Given the description of an element on the screen output the (x, y) to click on. 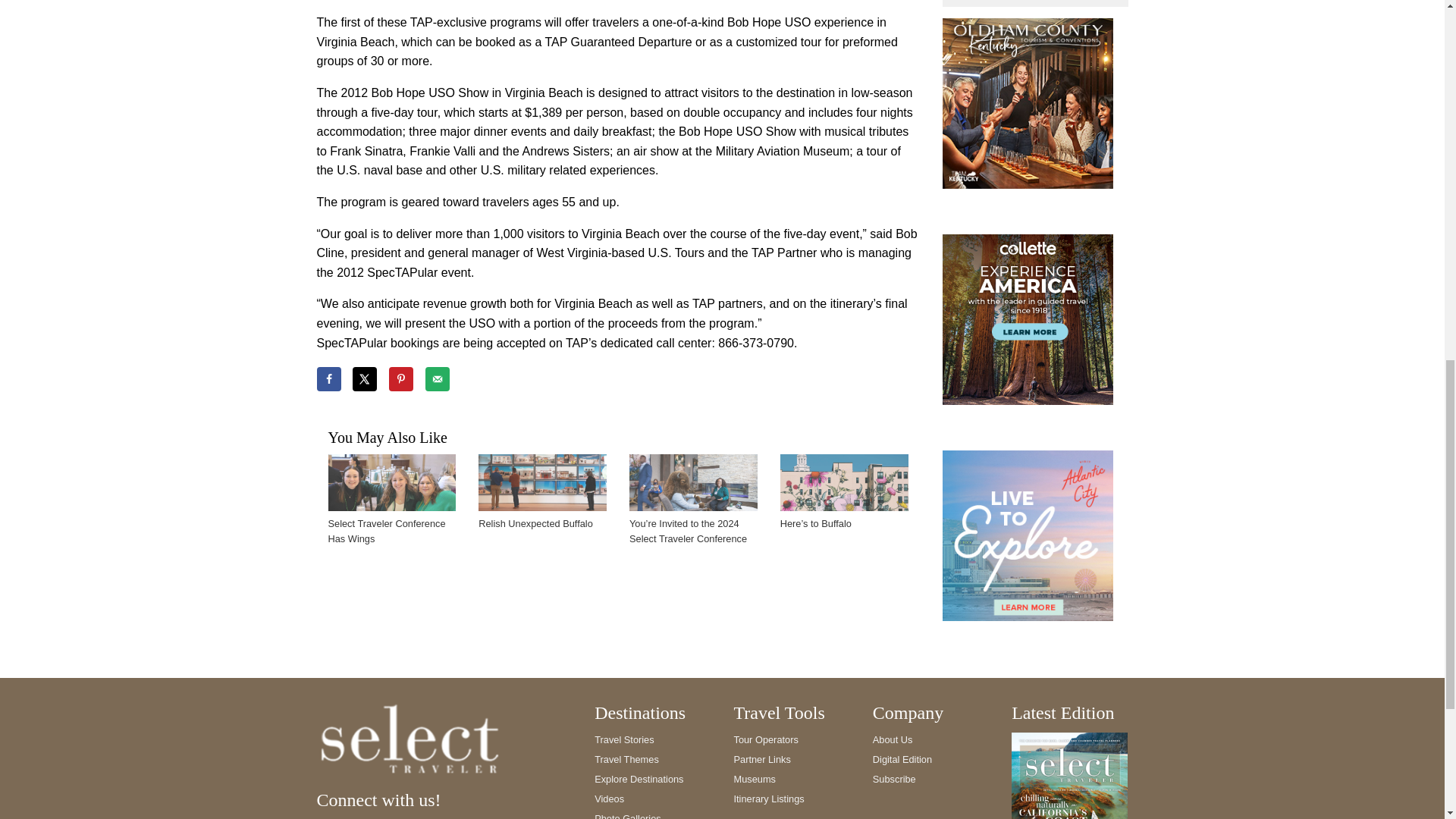
Share on Facebook (328, 378)
Share on X (364, 378)
Send over email (437, 378)
Save to Pinterest (400, 378)
